Given the description of an element on the screen output the (x, y) to click on. 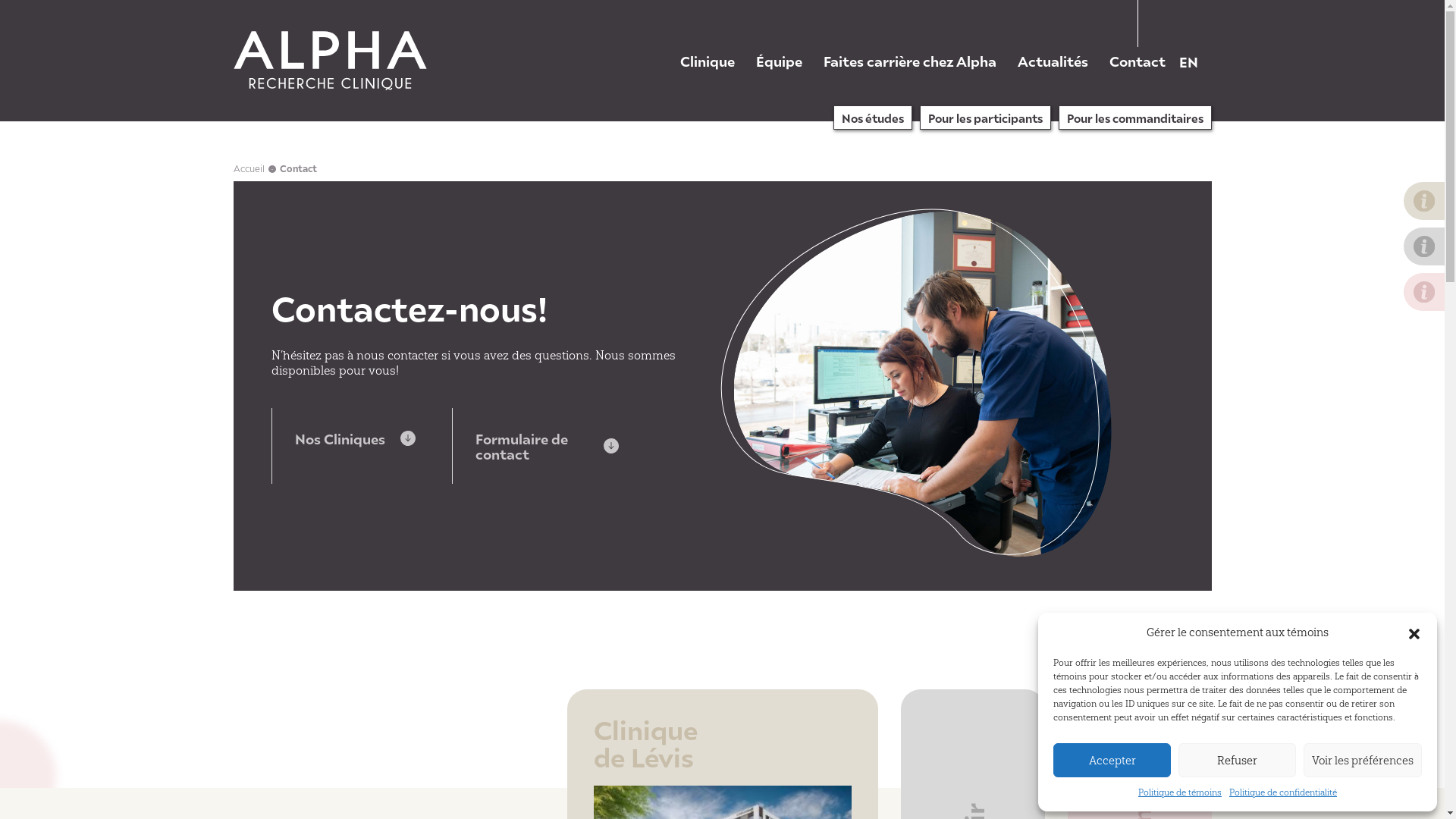
Contact Element type: text (1136, 60)
Accueil Element type: text (248, 168)
EN Element type: text (1187, 60)
Refuser Element type: text (1236, 760)
Formulaire de contact Element type: text (543, 445)
Clinique Element type: text (706, 60)
Pour les participants Element type: text (984, 117)
Nos Cliniques Element type: text (361, 438)
Pour les commanditaires Element type: text (1134, 117)
Accepter Element type: text (1111, 760)
